Given the description of an element on the screen output the (x, y) to click on. 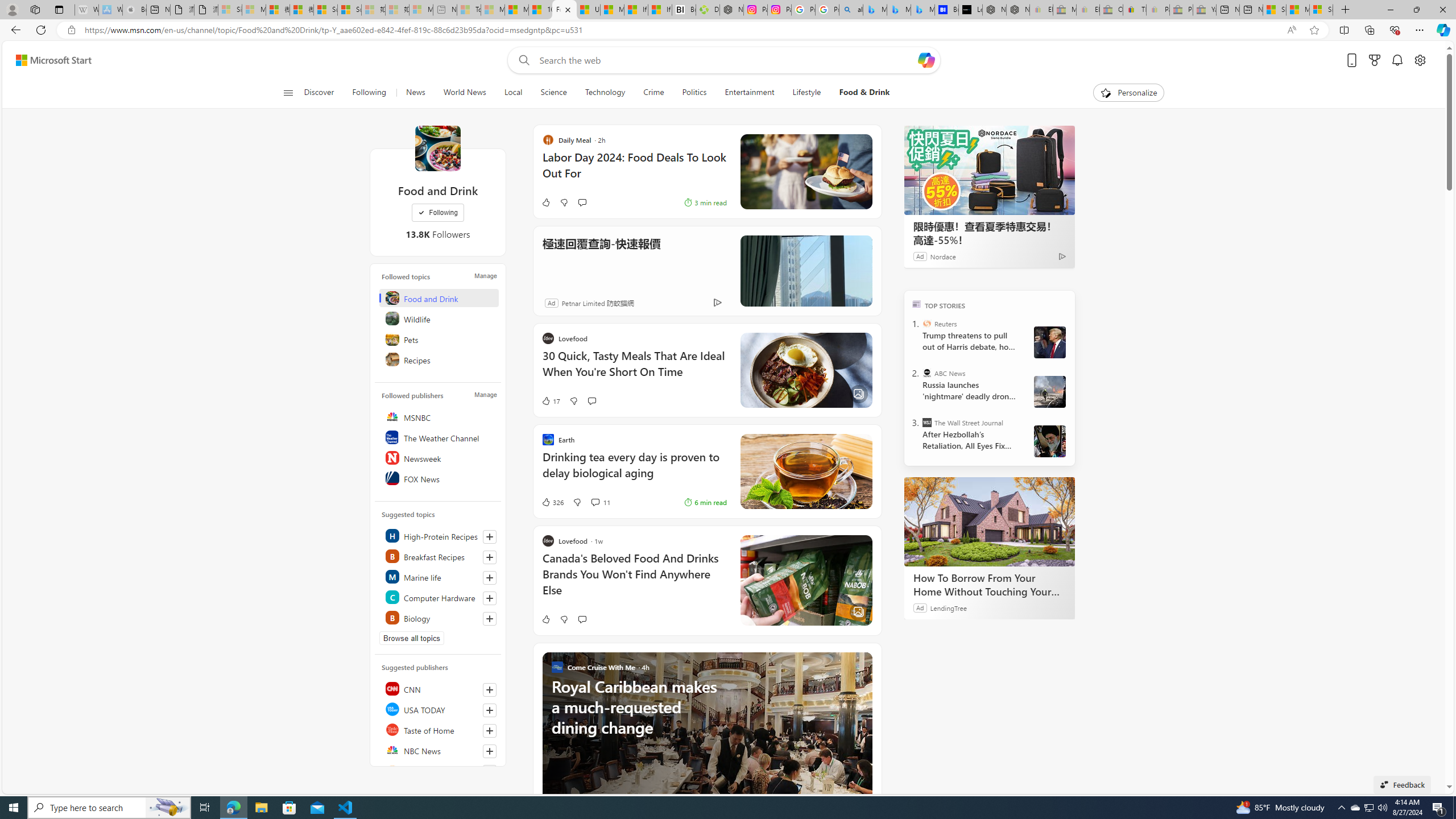
Shanghai, China hourly forecast | Microsoft Weather (1274, 9)
Taste of Home (439, 729)
Follow this topic (489, 618)
